Given the description of an element on the screen output the (x, y) to click on. 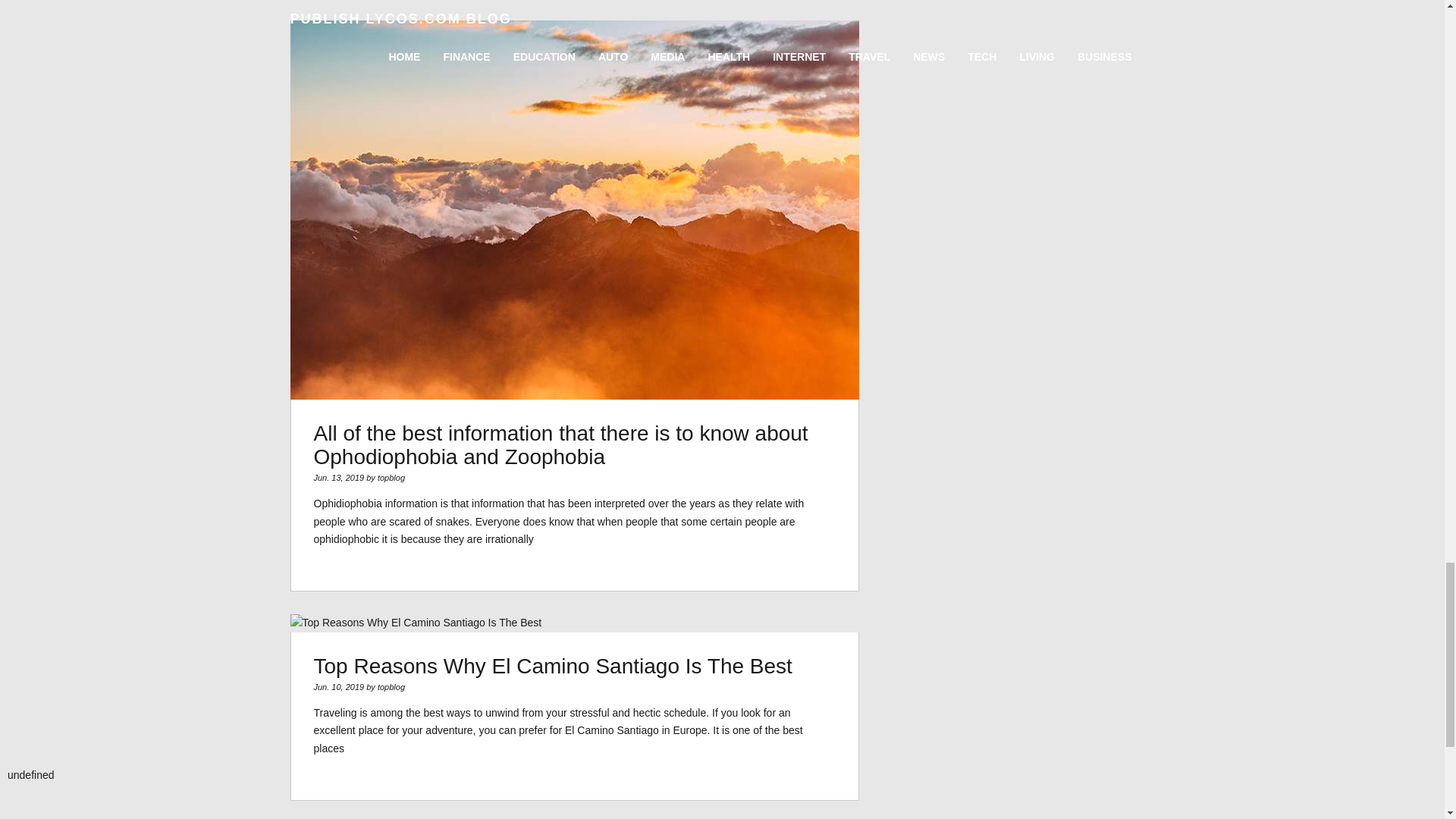
Top Reasons Why El Camino Santiago Is The Best (553, 666)
topblog (390, 686)
topblog (390, 477)
